Given the description of an element on the screen output the (x, y) to click on. 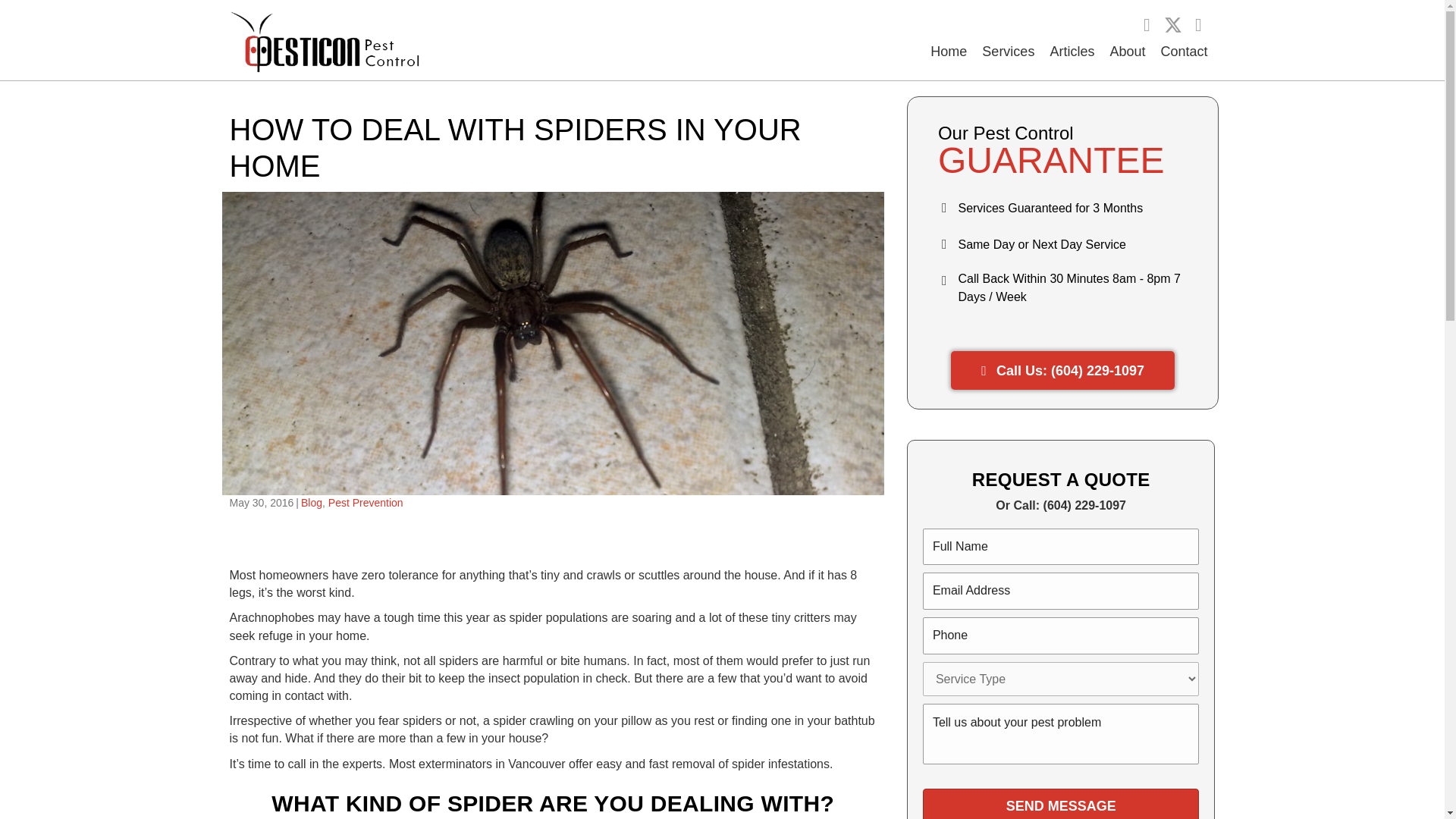
Facebook (1146, 24)
Contact (1183, 51)
pesticon-logo (323, 40)
Pest Prevention (366, 502)
SEND MESSAGE (1061, 803)
About (1127, 51)
Articles (1072, 51)
Services (1008, 51)
Blog (311, 502)
Home (948, 51)
LinkedIn (1198, 24)
